Given the description of an element on the screen output the (x, y) to click on. 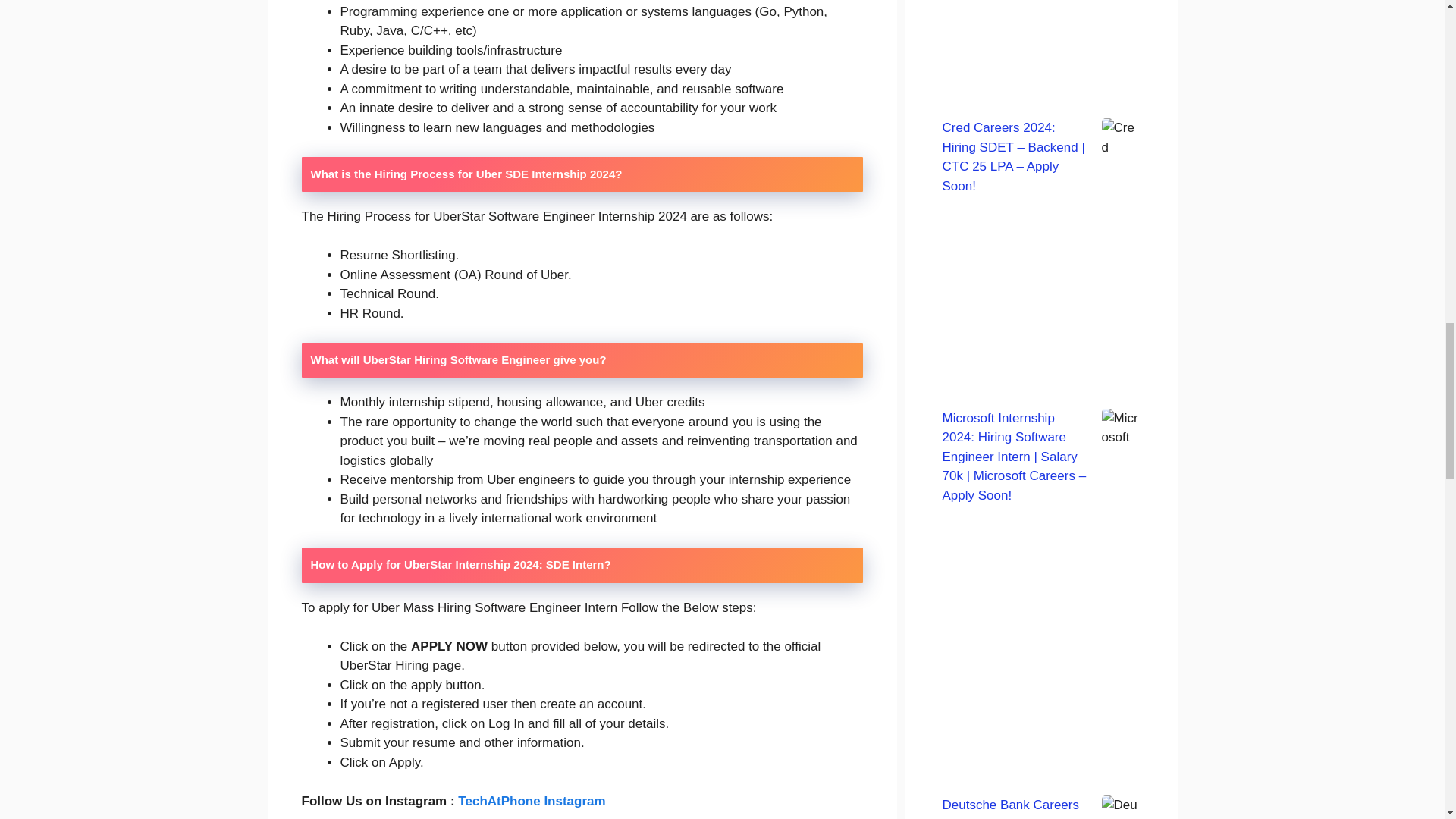
TechAtPhone Instagram (531, 800)
